Given the description of an element on the screen output the (x, y) to click on. 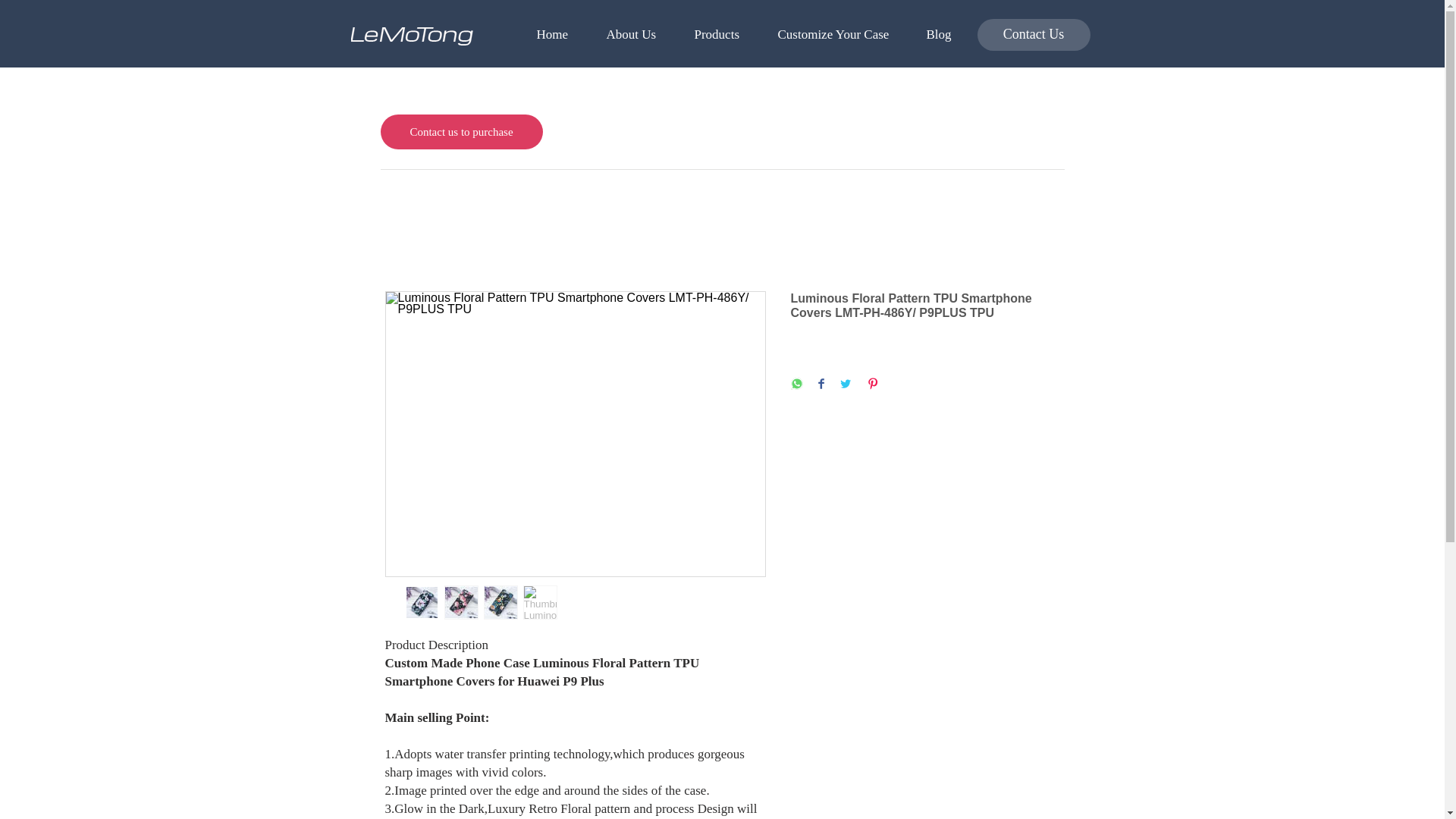
About Us (638, 34)
Blog (945, 34)
Contact us to purchase (461, 131)
Products (723, 34)
Home (559, 34)
Contact Us (1032, 34)
Customize Your Case (839, 34)
